Given the description of an element on the screen output the (x, y) to click on. 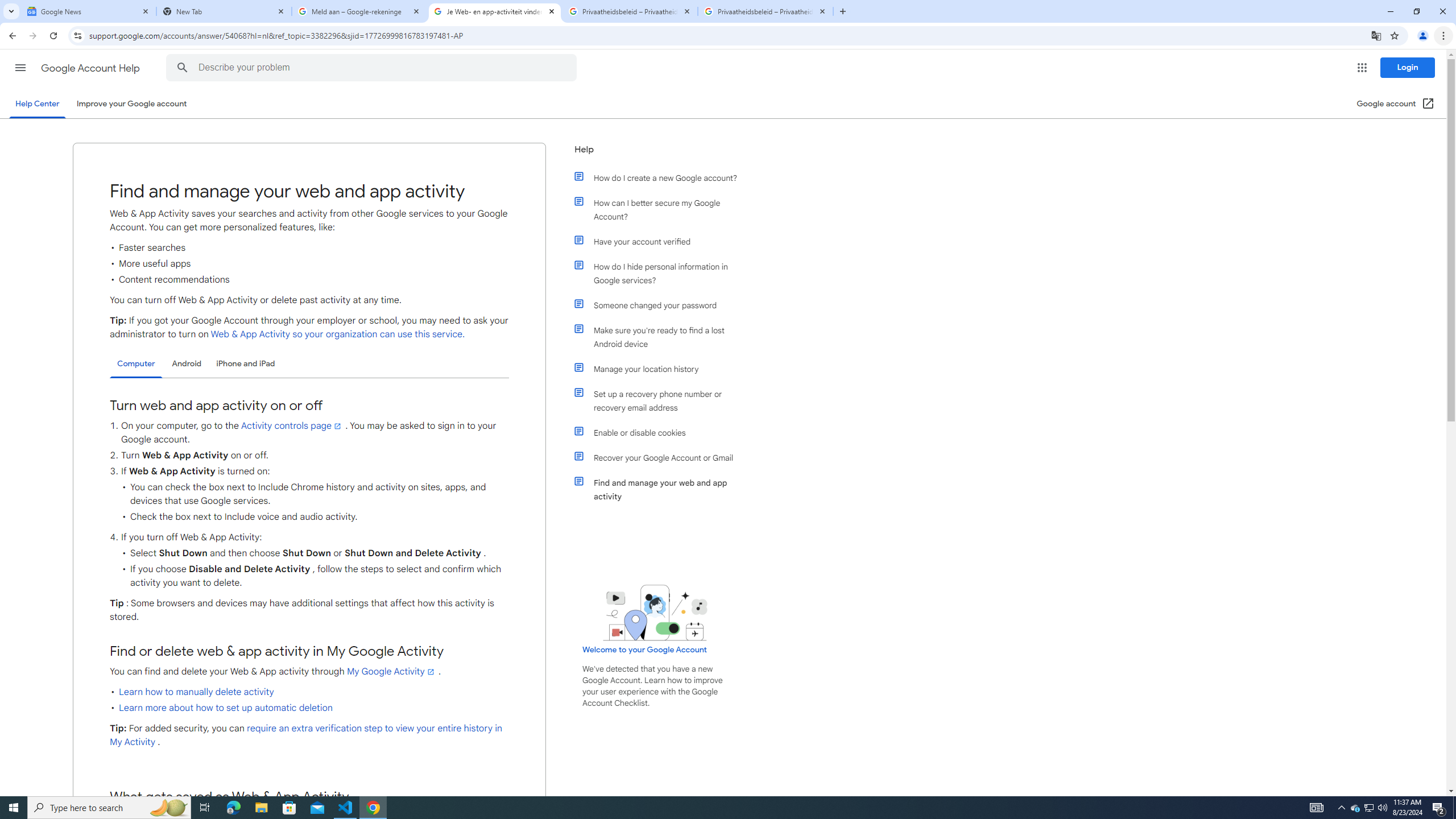
Enable or disable cookies (661, 432)
Google Account Help (91, 68)
Activity controls page (291, 425)
Learn how to manually delete activity (196, 691)
Google Account (Opens in new window) (1395, 103)
New Tab (224, 11)
Welcome to your Google Account (644, 649)
